Given the description of an element on the screen output the (x, y) to click on. 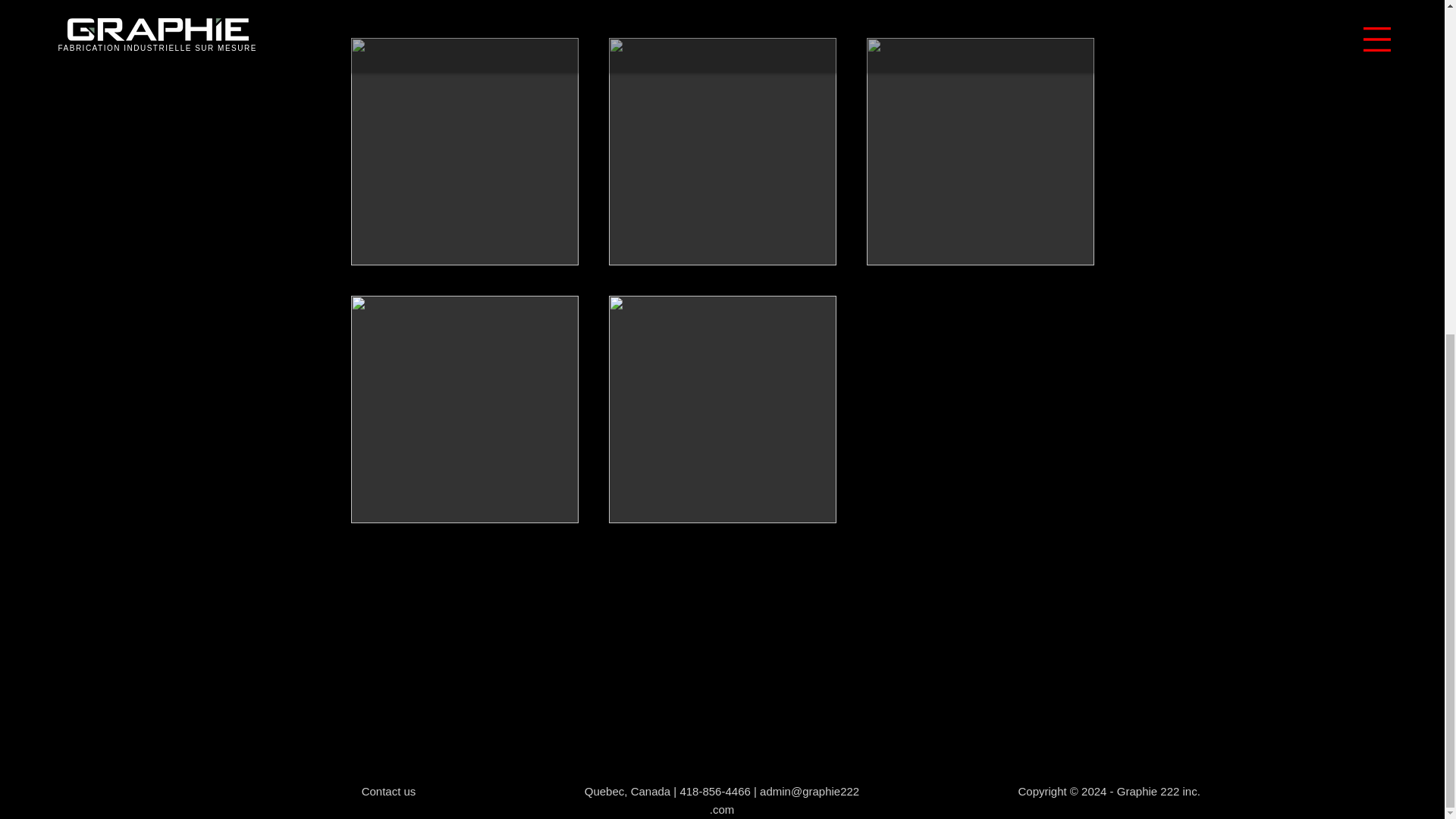
Contact us (388, 791)
